Given the description of an element on the screen output the (x, y) to click on. 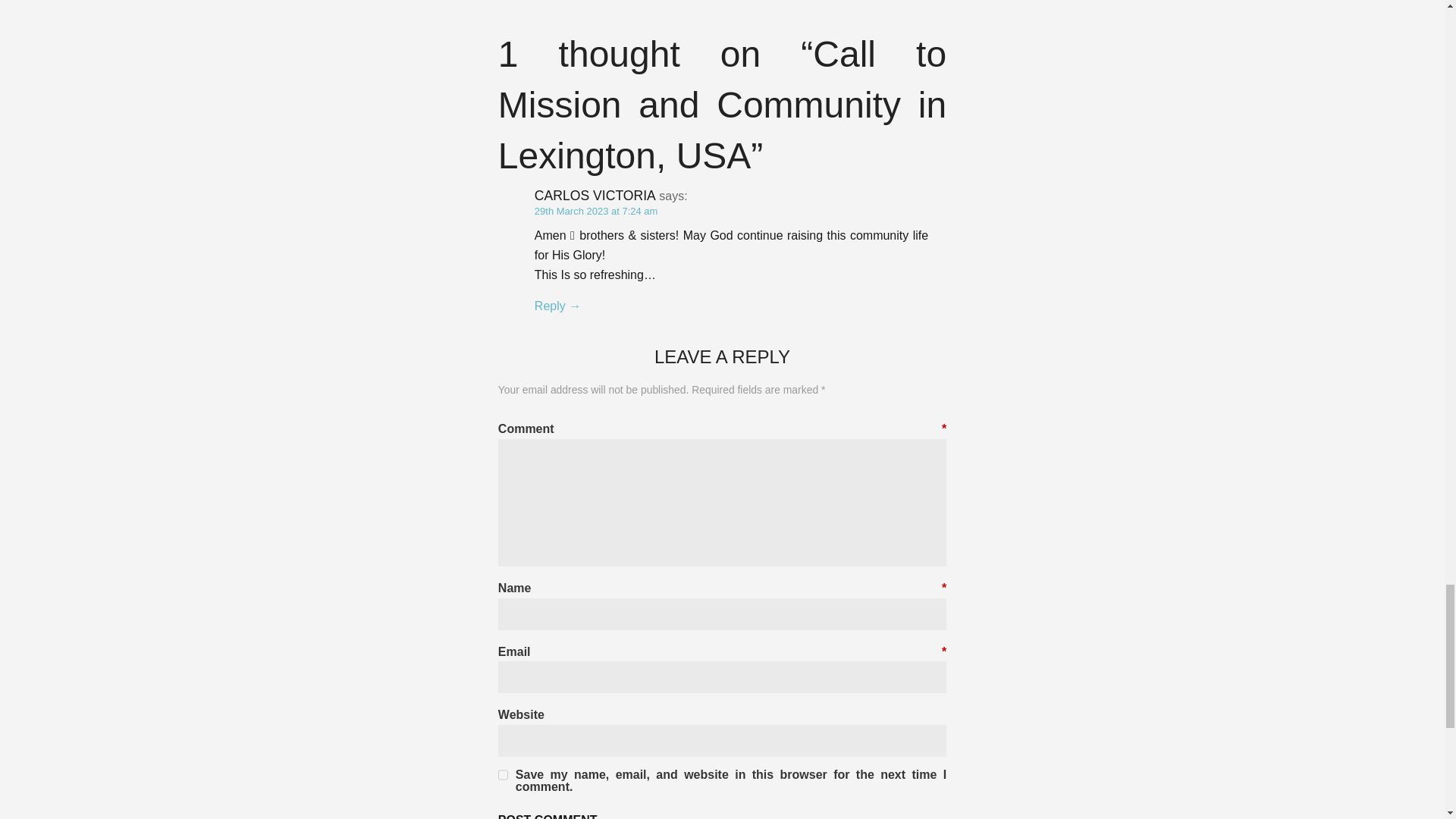
Post Comment (546, 812)
Reply (557, 305)
29th March 2023 at 7:24 am (596, 211)
Post Comment (546, 812)
